Given the description of an element on the screen output the (x, y) to click on. 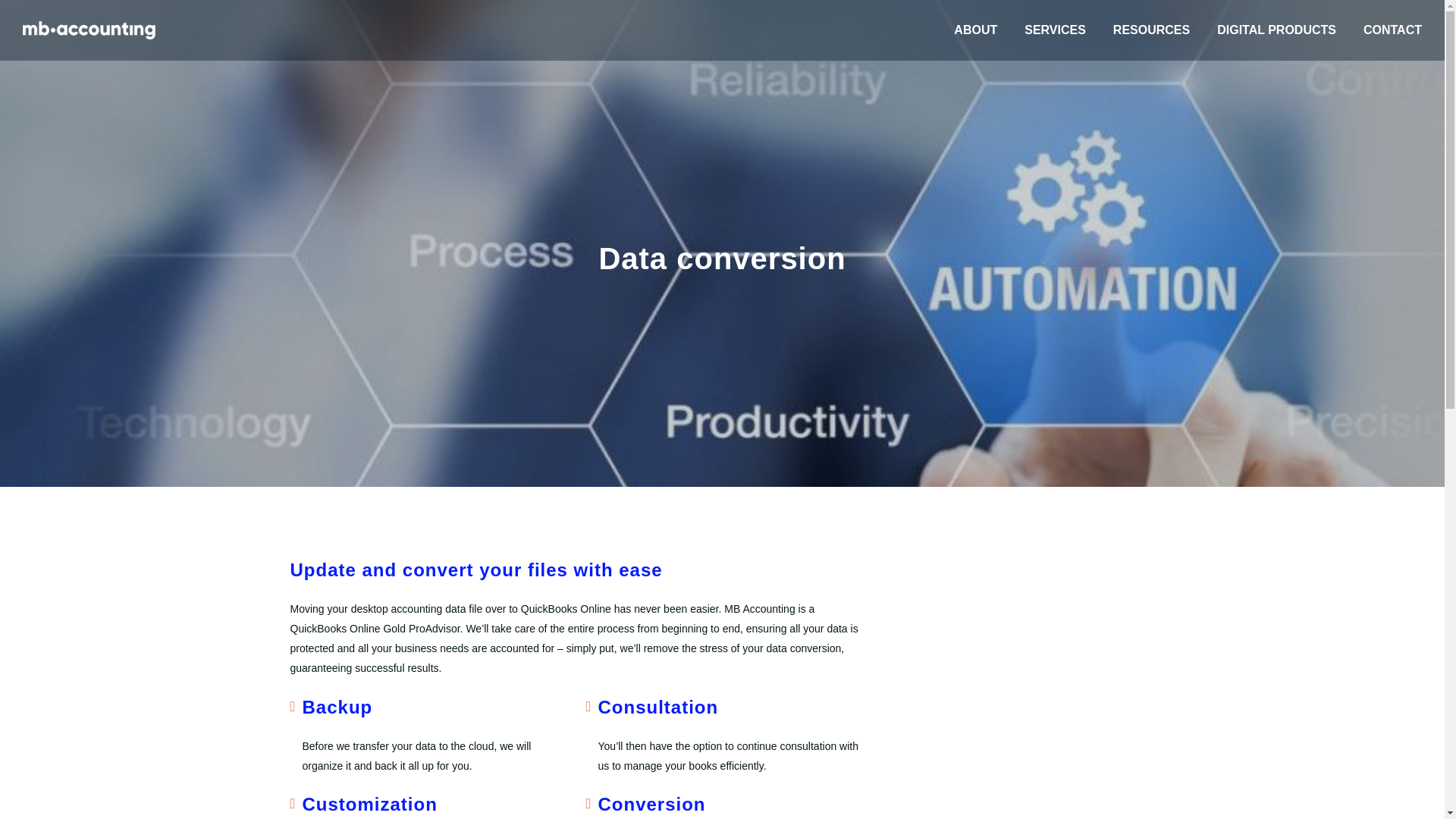
ABOUT (975, 29)
RESOURCES (1151, 29)
DIGITAL PRODUCTS (1276, 29)
CONTACT (1392, 29)
SERVICES (1055, 29)
